Given the description of an element on the screen output the (x, y) to click on. 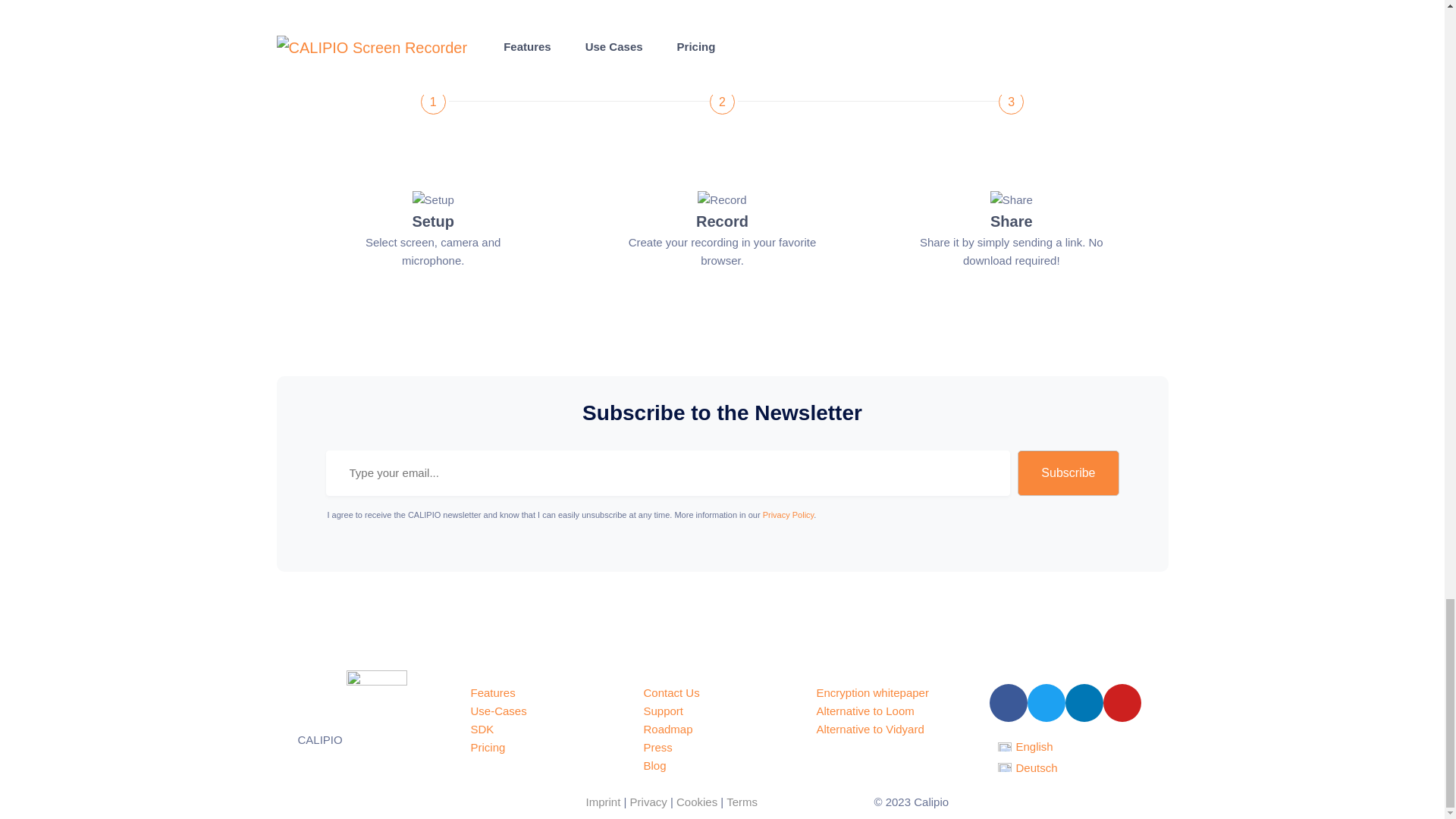
Read our blog (654, 765)
Development roadmap of Calipio (668, 728)
Subscribe (1067, 473)
Best alternative to Vidyard (869, 728)
End to end encryption - the Calipio approach (871, 692)
Best alternative to Loom (864, 710)
